Given the description of an element on the screen output the (x, y) to click on. 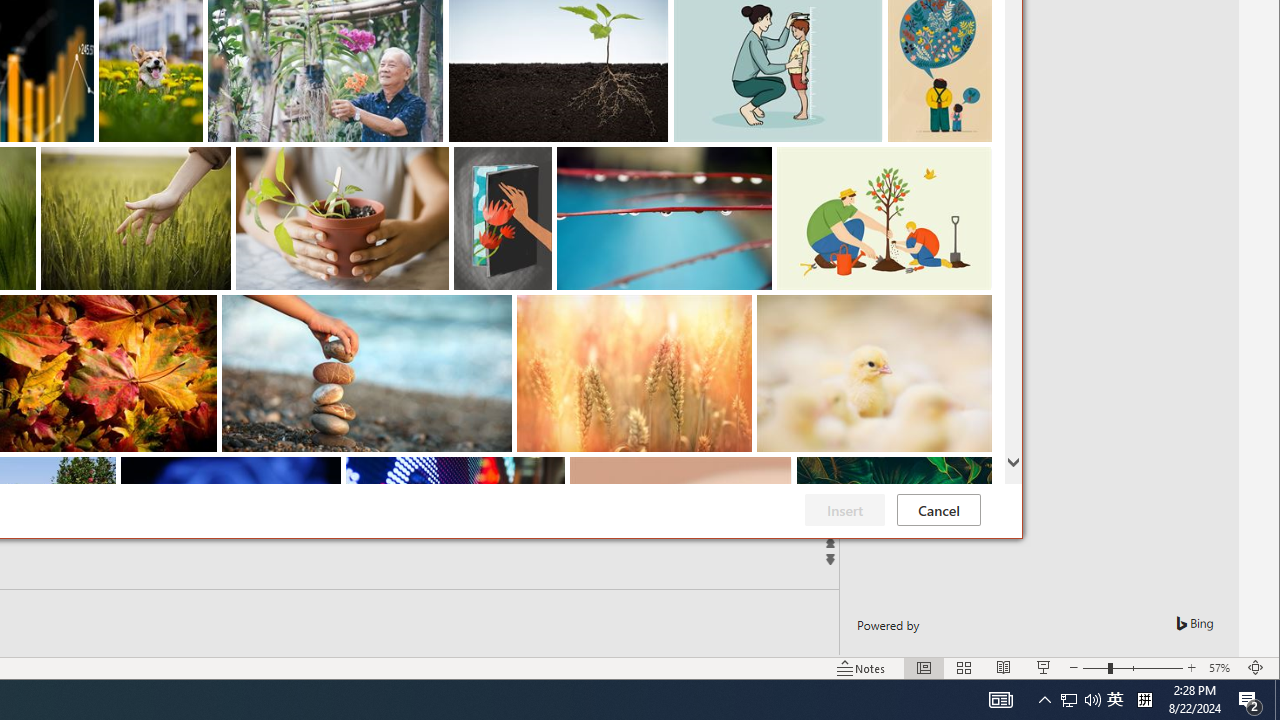
Zoom In (1191, 668)
